Given the description of an element on the screen output the (x, y) to click on. 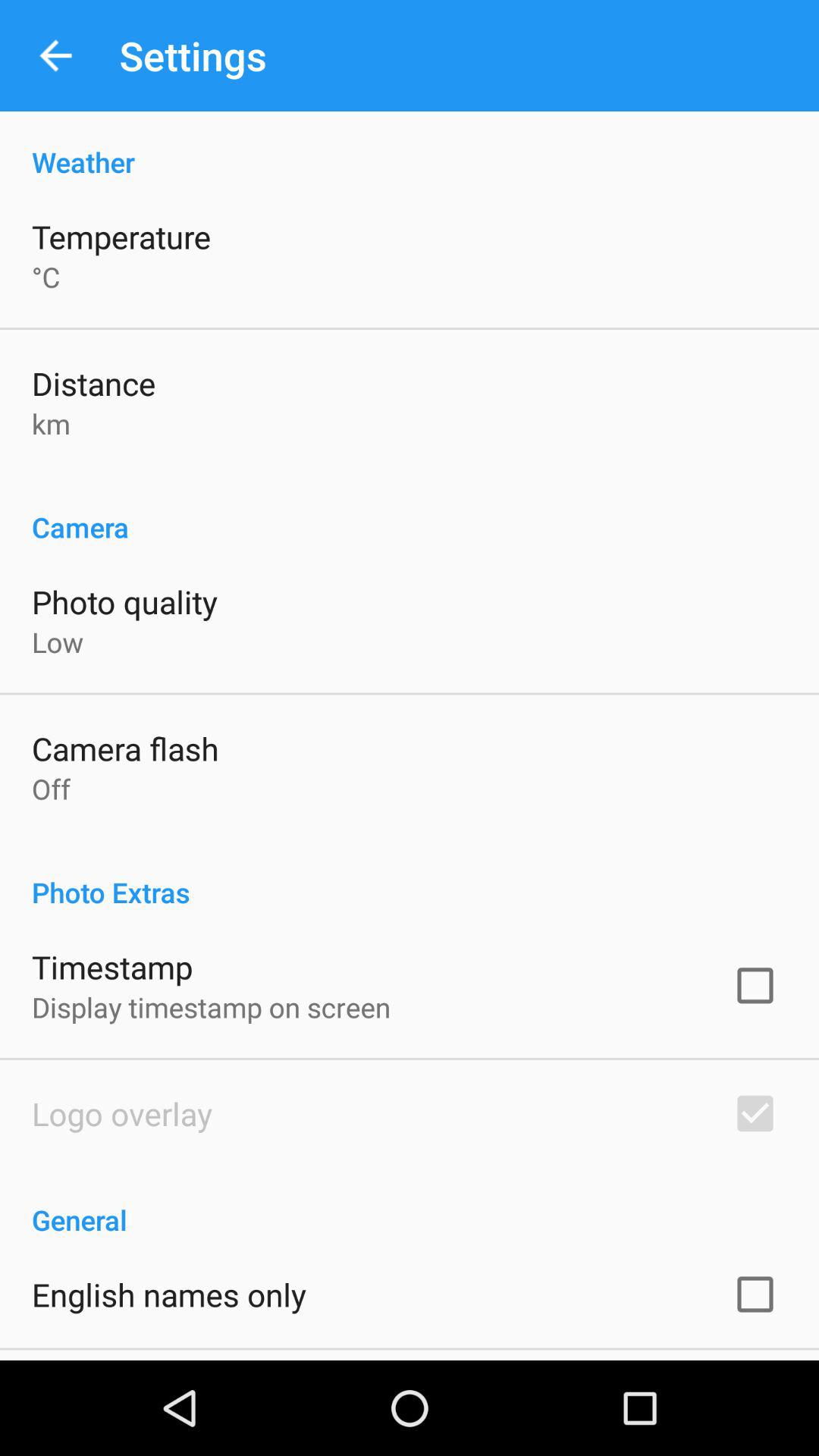
turn on item below the timestamp (210, 1007)
